Given the description of an element on the screen output the (x, y) to click on. 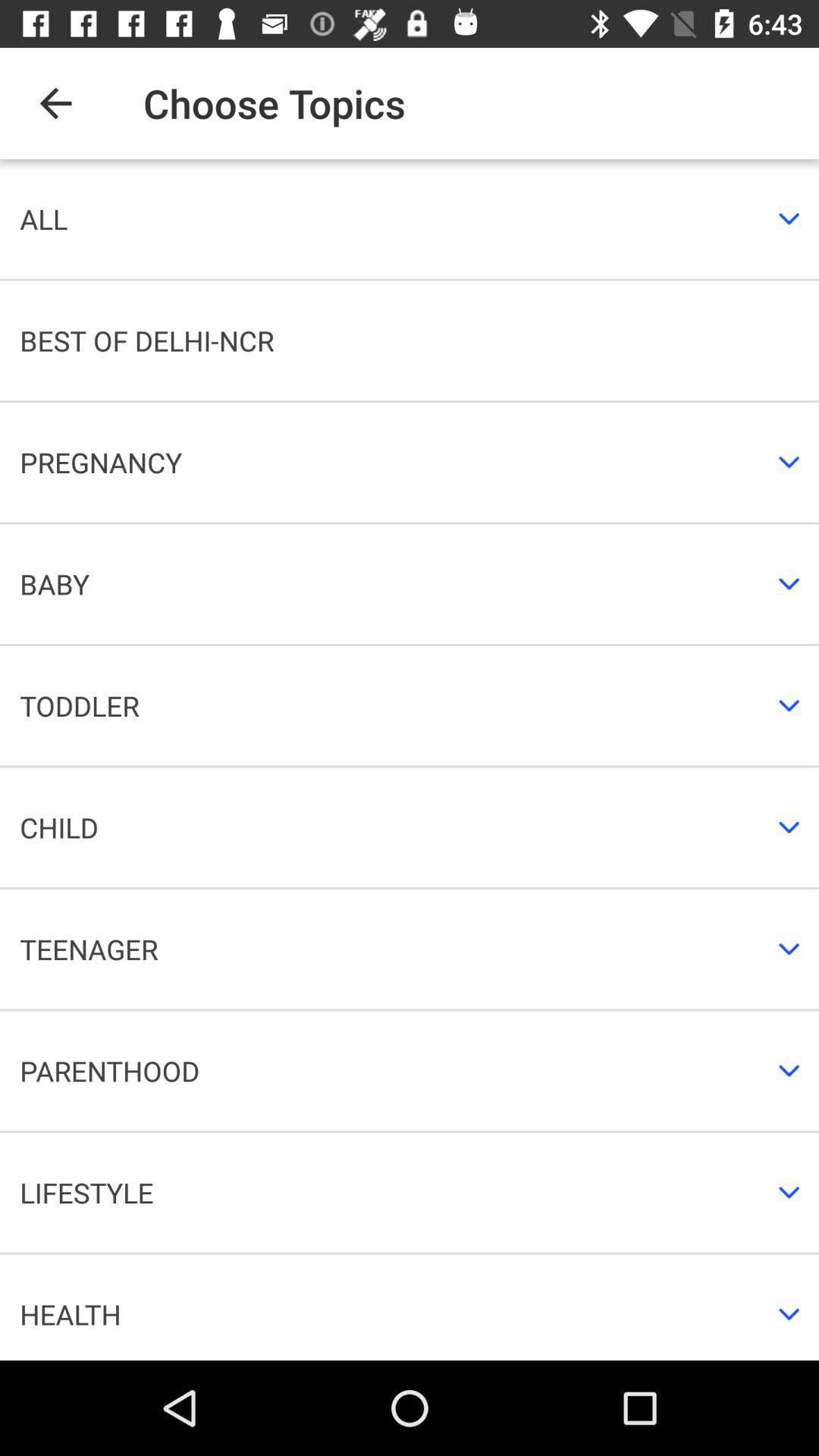
click the icon at the top left corner (55, 103)
